Given the description of an element on the screen output the (x, y) to click on. 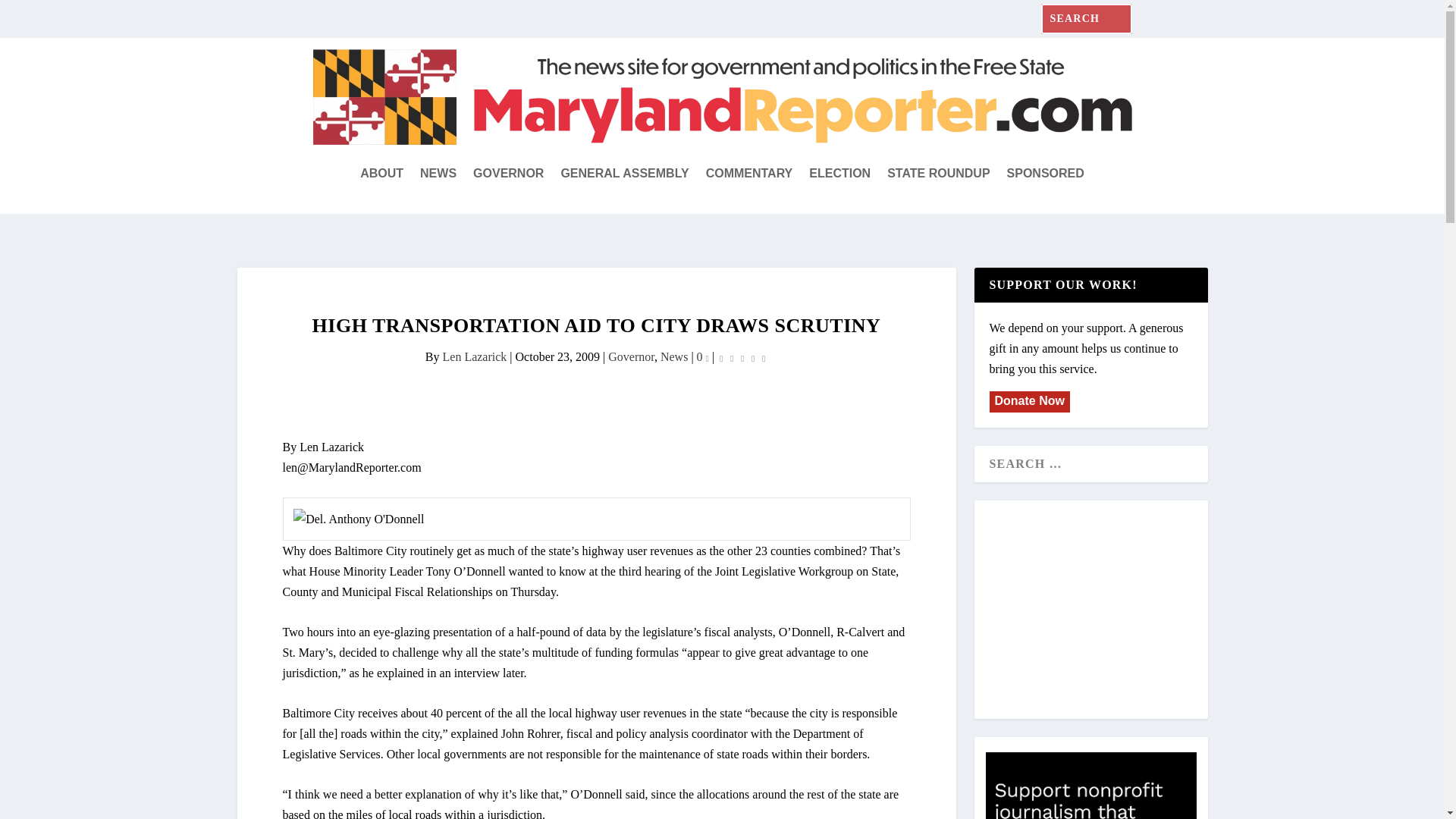
Search (29, 15)
Governor (630, 356)
News (674, 356)
Search (34, 14)
SPONSORED (1045, 173)
Posts by Len Lazarick (474, 356)
Rating: 0.00 (742, 357)
STATE ROUNDUP (938, 173)
COMMENTARY (749, 173)
GOVERNOR (508, 173)
